Given the description of an element on the screen output the (x, y) to click on. 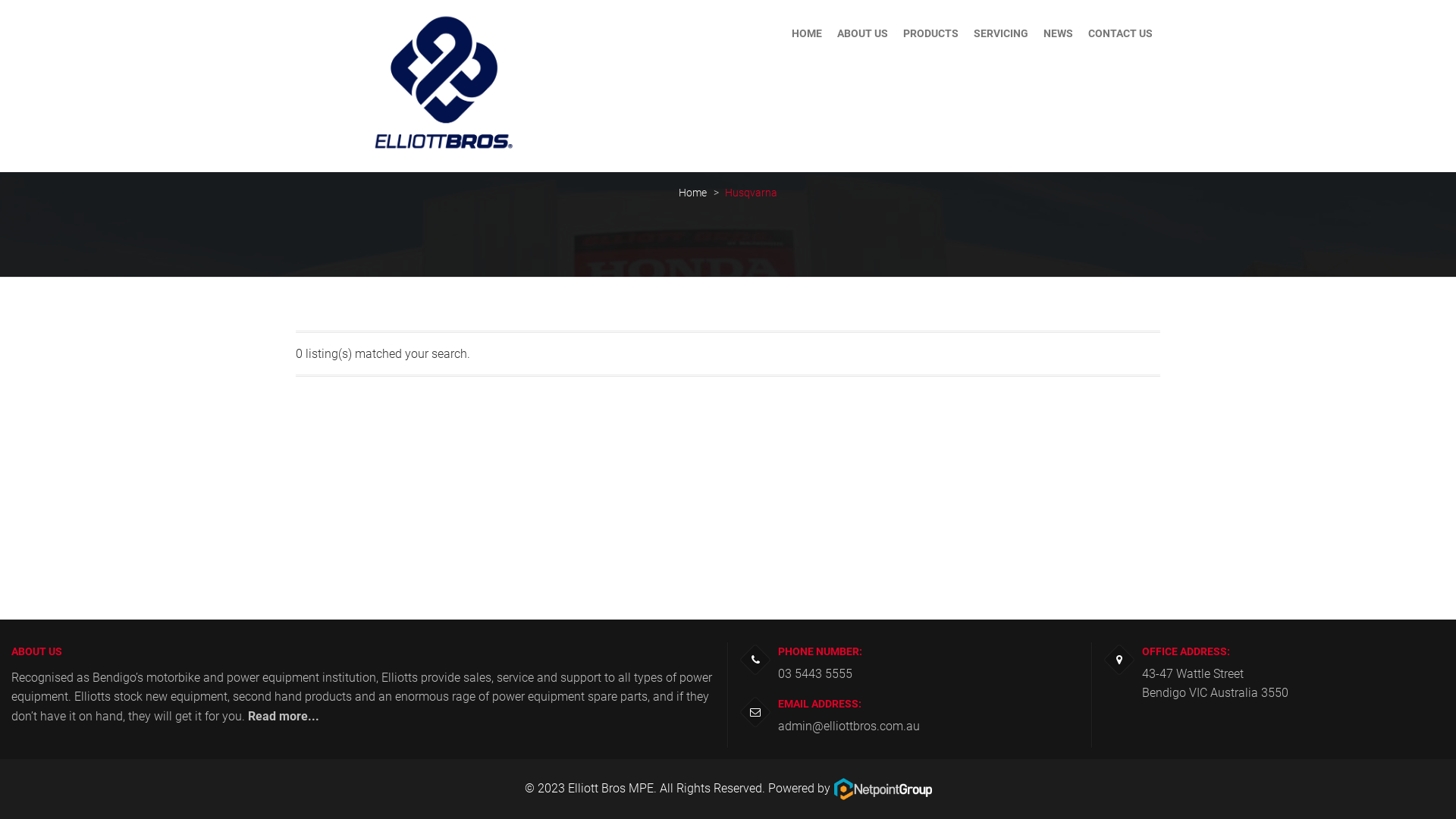
Home Element type: text (692, 192)
Elliott Bros MPE Element type: text (609, 788)
03 5443 5555 Element type: text (815, 673)
ABOUT US Element type: text (862, 33)
SERVICING Element type: text (1000, 33)
CONTACT US Element type: text (1120, 33)
admin@elliottbros.com.au Element type: text (848, 725)
HOME Element type: text (806, 33)
Read more... Element type: text (283, 716)
NEWS Element type: text (1057, 33)
PRODUCTS Element type: text (930, 33)
